Given the description of an element on the screen output the (x, y) to click on. 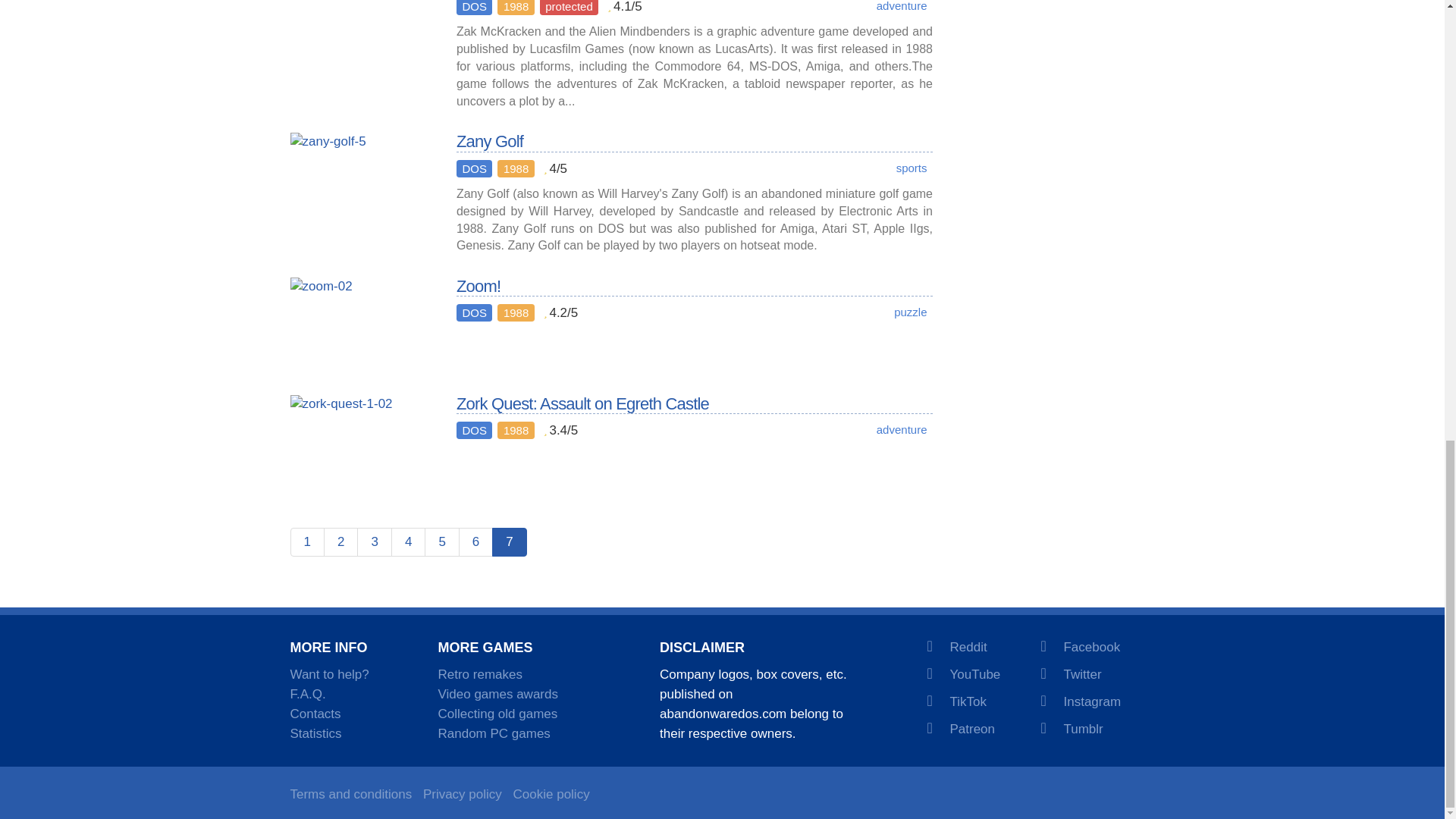
Zak McKracken and the Alien Mindbenders (360, 33)
Zany Golf (360, 179)
Zork Quest: Assault on Egreth Castle (360, 441)
Zoom! (360, 324)
